Given the description of an element on the screen output the (x, y) to click on. 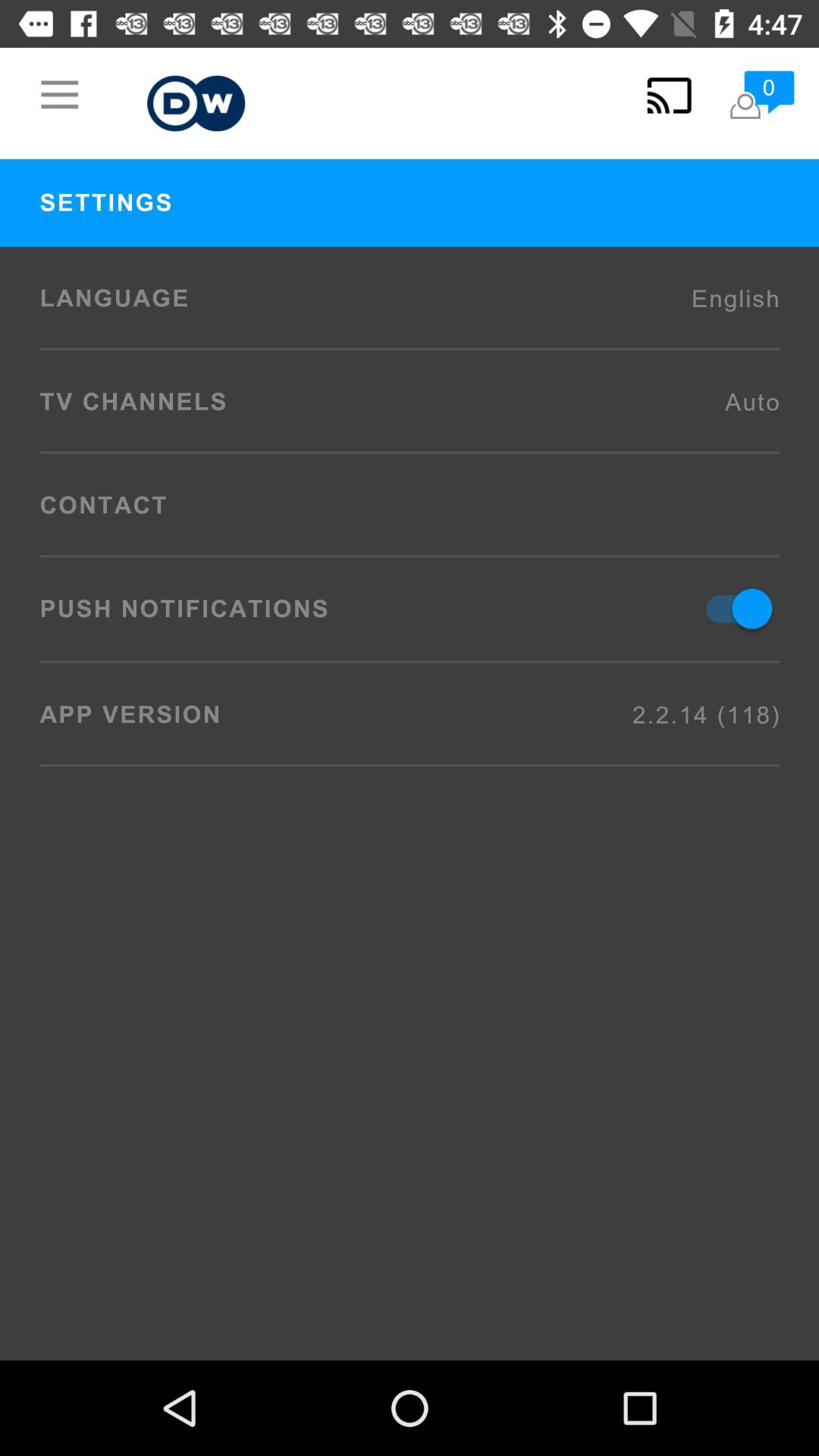
choose the item next to 0 (669, 95)
